Given the description of an element on the screen output the (x, y) to click on. 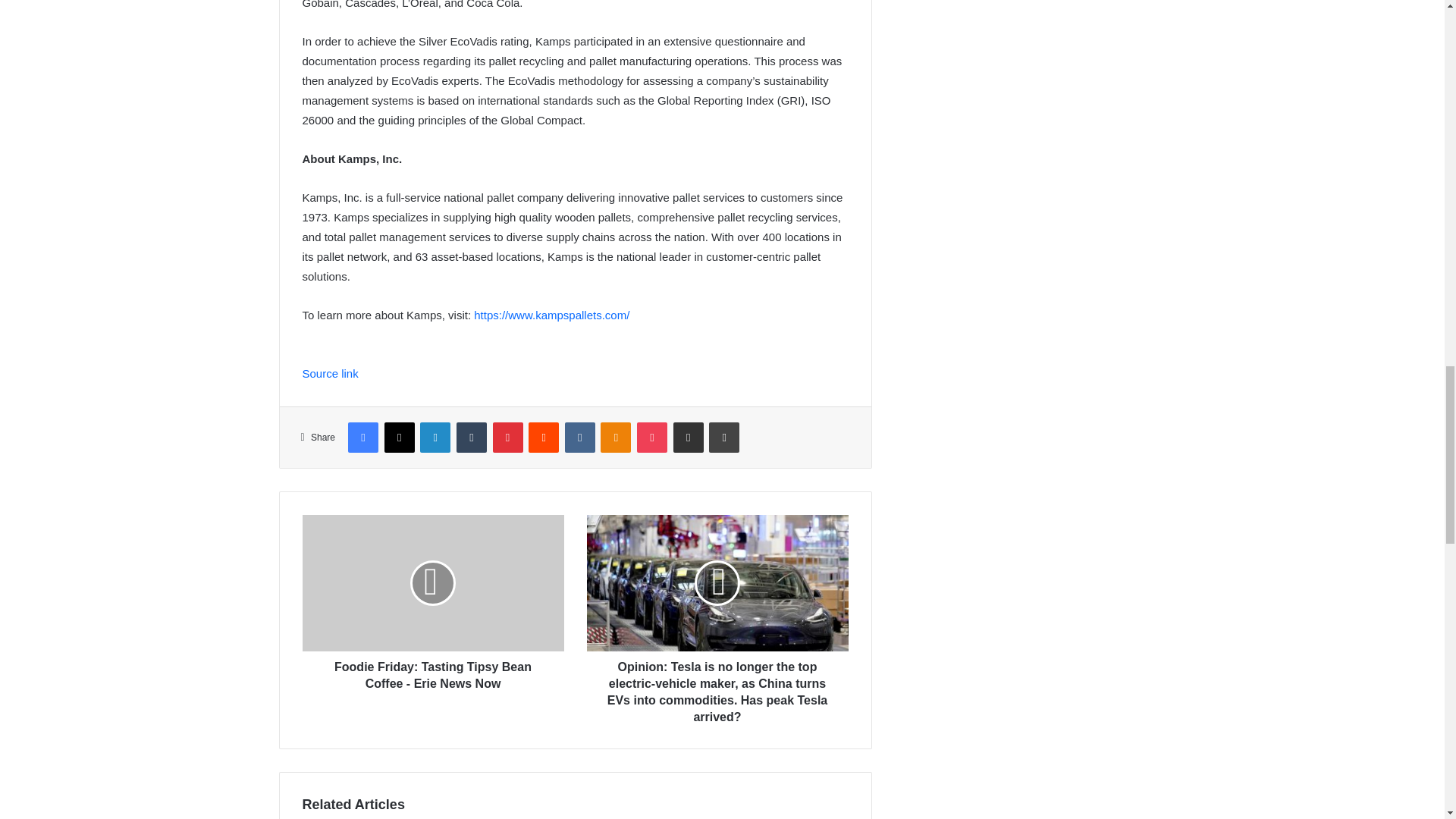
Reddit (543, 437)
Facebook (362, 437)
LinkedIn (434, 437)
X (399, 437)
Pinterest (507, 437)
X (399, 437)
Pinterest (507, 437)
Tumblr (471, 437)
Source link (329, 373)
Odnoklassniki (614, 437)
Tumblr (471, 437)
VKontakte (579, 437)
LinkedIn (434, 437)
Pocket (651, 437)
Print (724, 437)
